Given the description of an element on the screen output the (x, y) to click on. 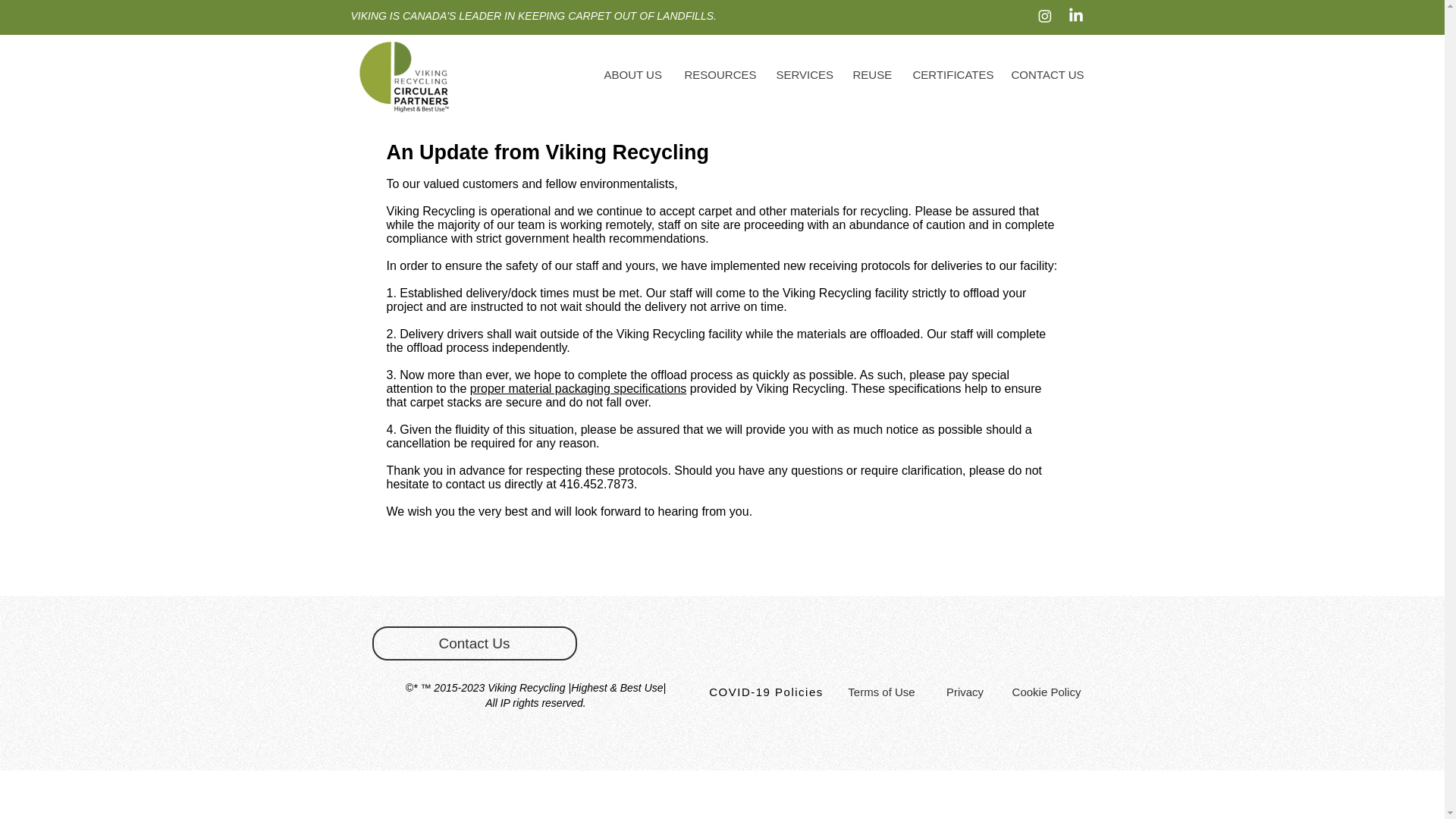
Terms of Use (881, 691)
Cookie Policy (1045, 691)
CERTIFICATES (949, 74)
SERVICES (802, 74)
COVID-19 Policies (767, 691)
REUSE (869, 74)
proper material packaging specifications (577, 388)
ABOUT US (631, 74)
Contact Us (473, 643)
CONTACT US (1045, 74)
Privacy (965, 691)
RESOURCES (716, 74)
